Given the description of an element on the screen output the (x, y) to click on. 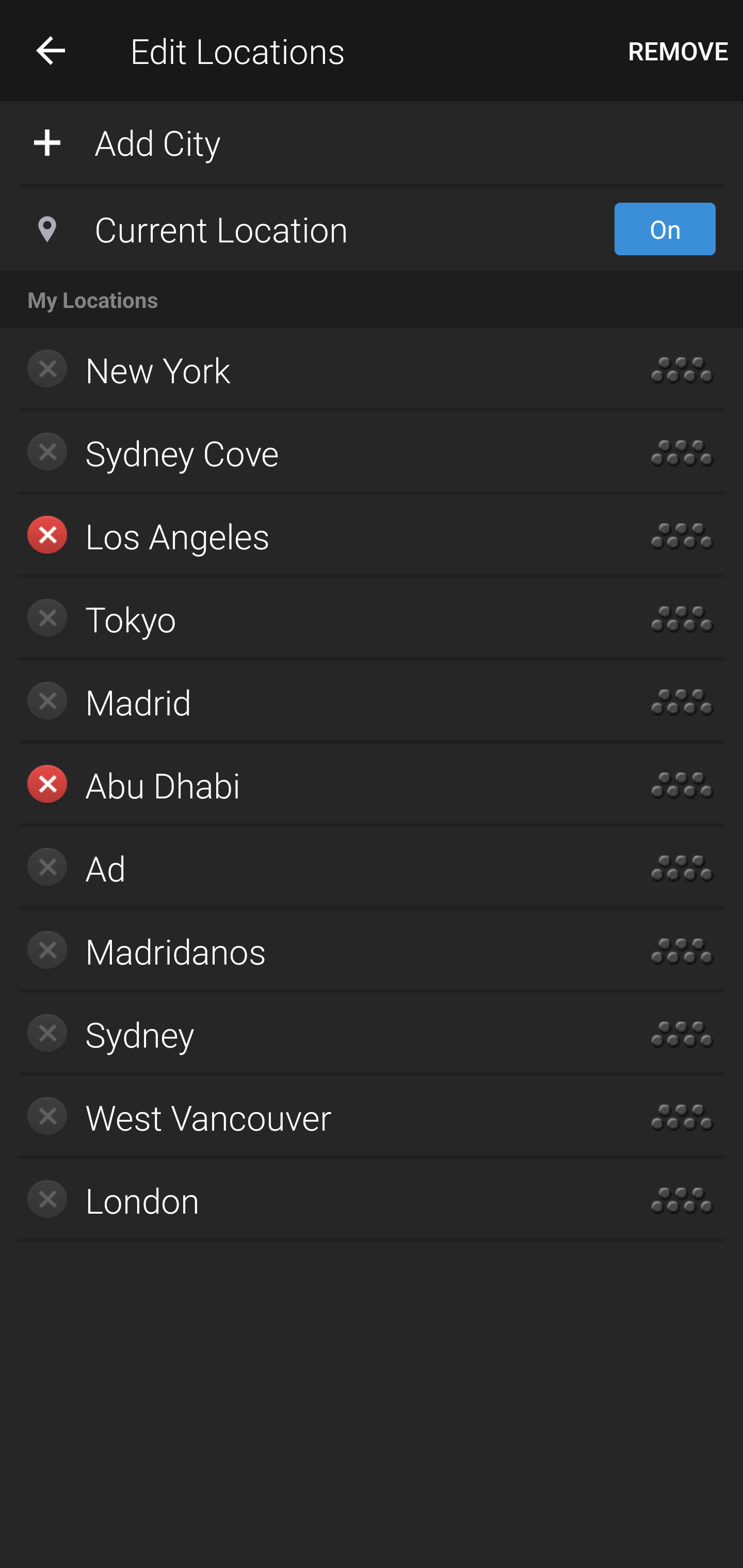
Navigate up (50, 50)
REMOVE (677, 50)
Add City (371, 141)
Current Location: On Current Location On (371, 229)
Delete: New York New York (311, 369)
Delete: Sydney Cove Sydney Cove (311, 452)
Delete: Los Angeles: Selected Los Angeles (311, 535)
Delete: Tokyo Tokyo (311, 618)
Delete: Madrid Madrid (311, 701)
Delete: Abu Dhabi: Selected Abu Dhabi (311, 784)
Delete: Ad Ad (311, 867)
Delete: Madridanos Madridanos (311, 950)
Delete: Sydney Sydney (311, 1033)
Delete: West Vancouver West Vancouver (311, 1116)
Delete: London London (311, 1200)
